Given the description of an element on the screen output the (x, y) to click on. 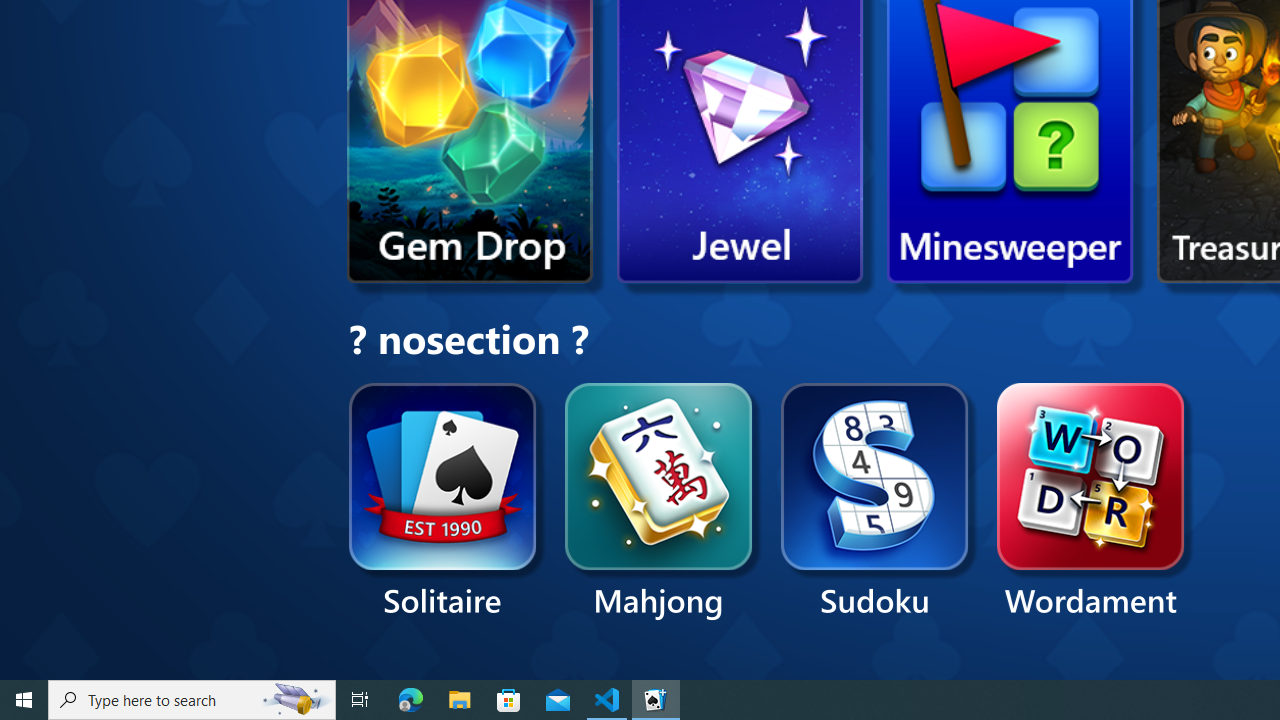
Wordament (1090, 502)
Solitaire & Casual Games - 1 running window (656, 699)
Sudoku (875, 502)
Mahjong (659, 502)
Solitaire (442, 502)
